Given the description of an element on the screen output the (x, y) to click on. 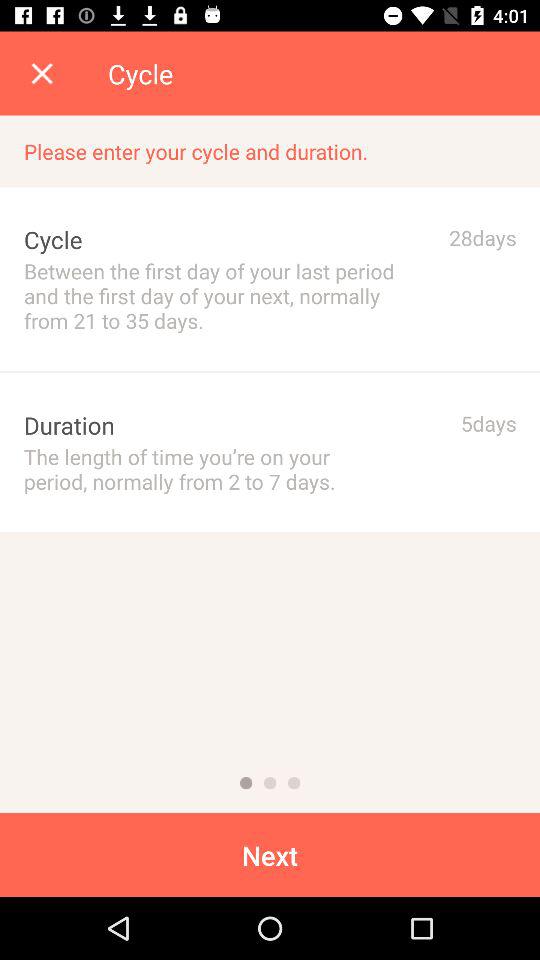
next (270, 783)
